Given the description of an element on the screen output the (x, y) to click on. 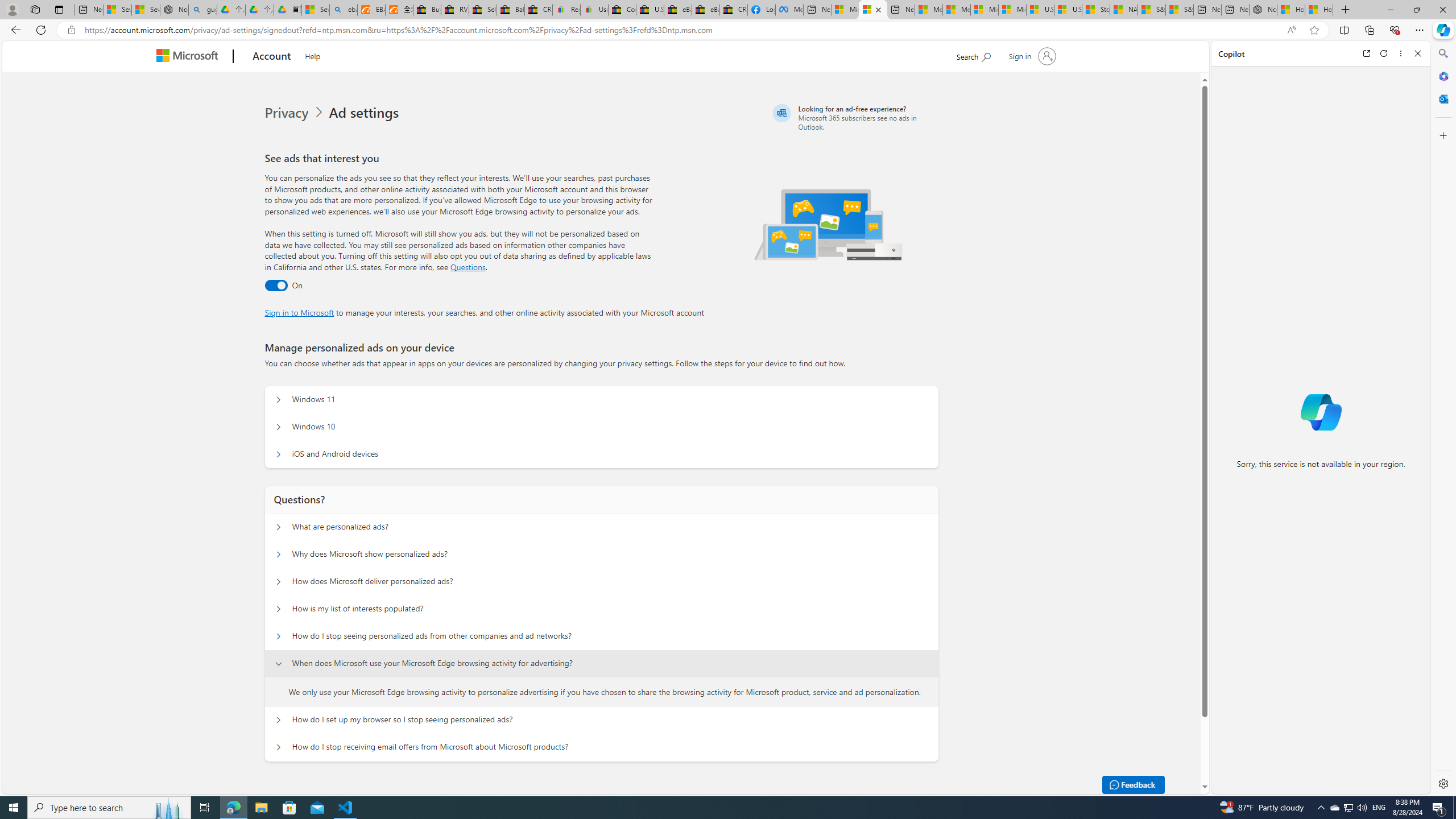
Questions? How is my list of interests populated? (278, 608)
Help (312, 54)
Customize (1442, 135)
Privacy (295, 112)
